Given the description of an element on the screen output the (x, y) to click on. 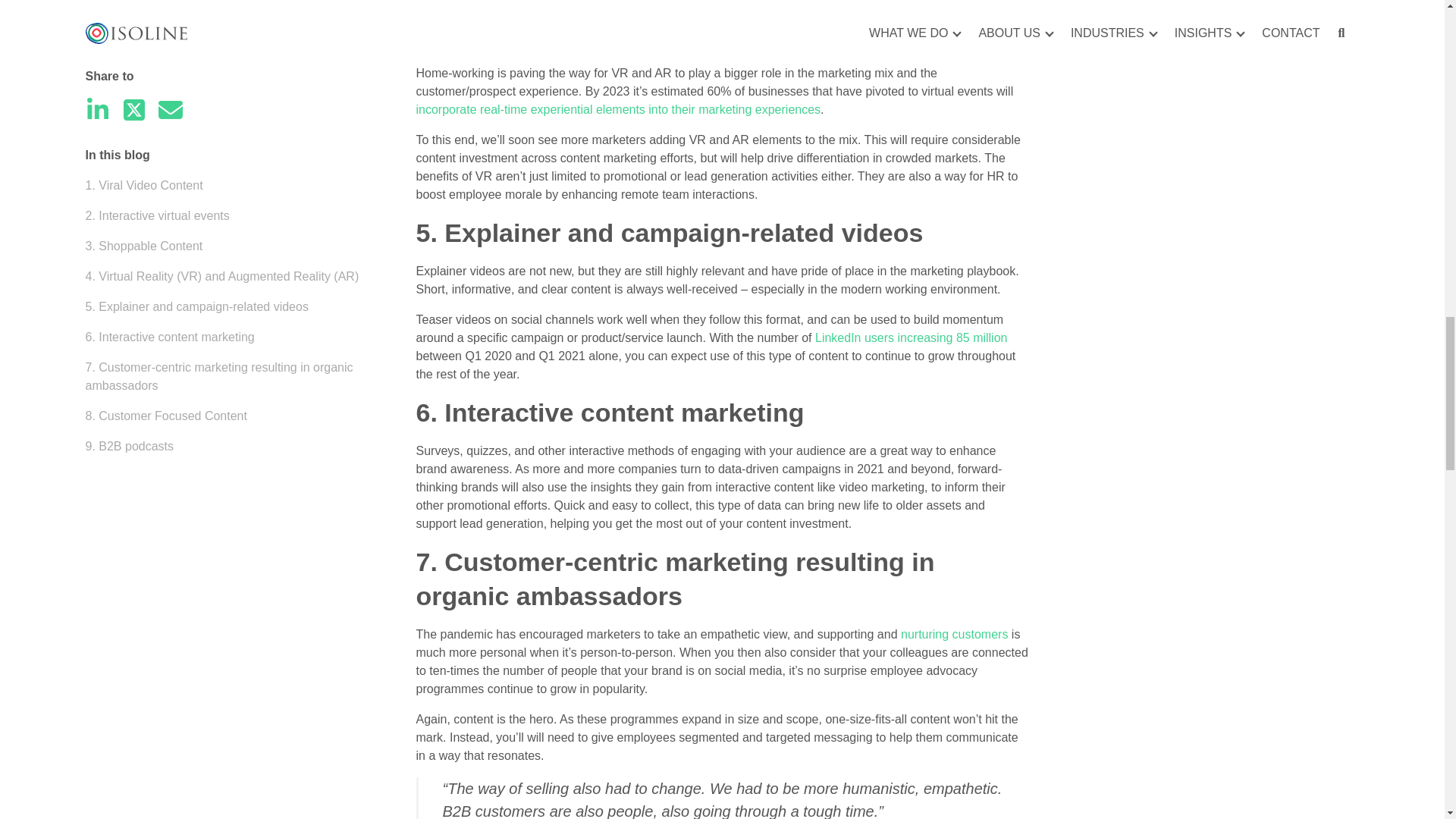
nurturing customers (954, 634)
LinkedIn users increasing 85 million (911, 336)
